Given the description of an element on the screen output the (x, y) to click on. 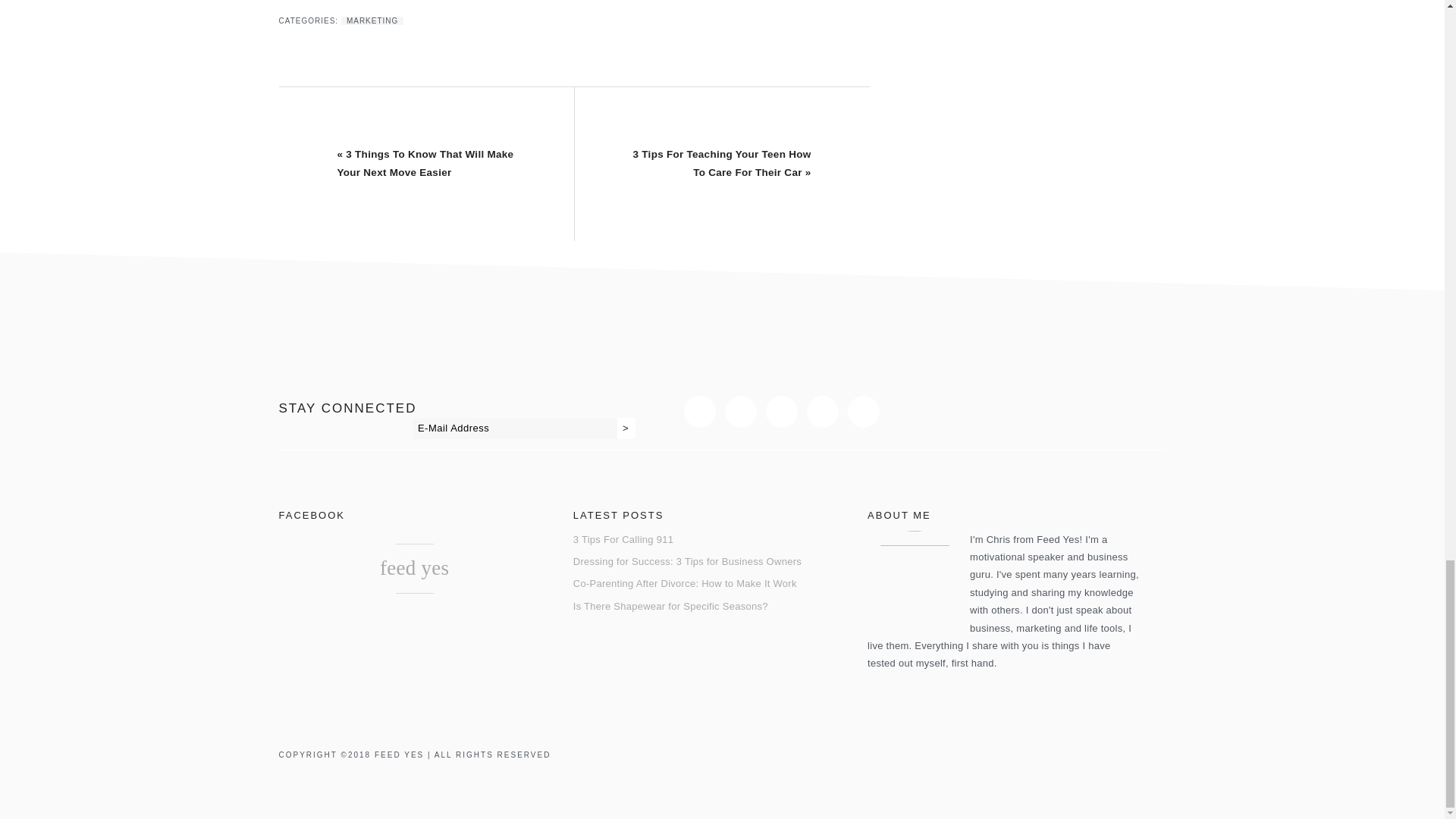
MARKETING (371, 20)
